Given the description of an element on the screen output the (x, y) to click on. 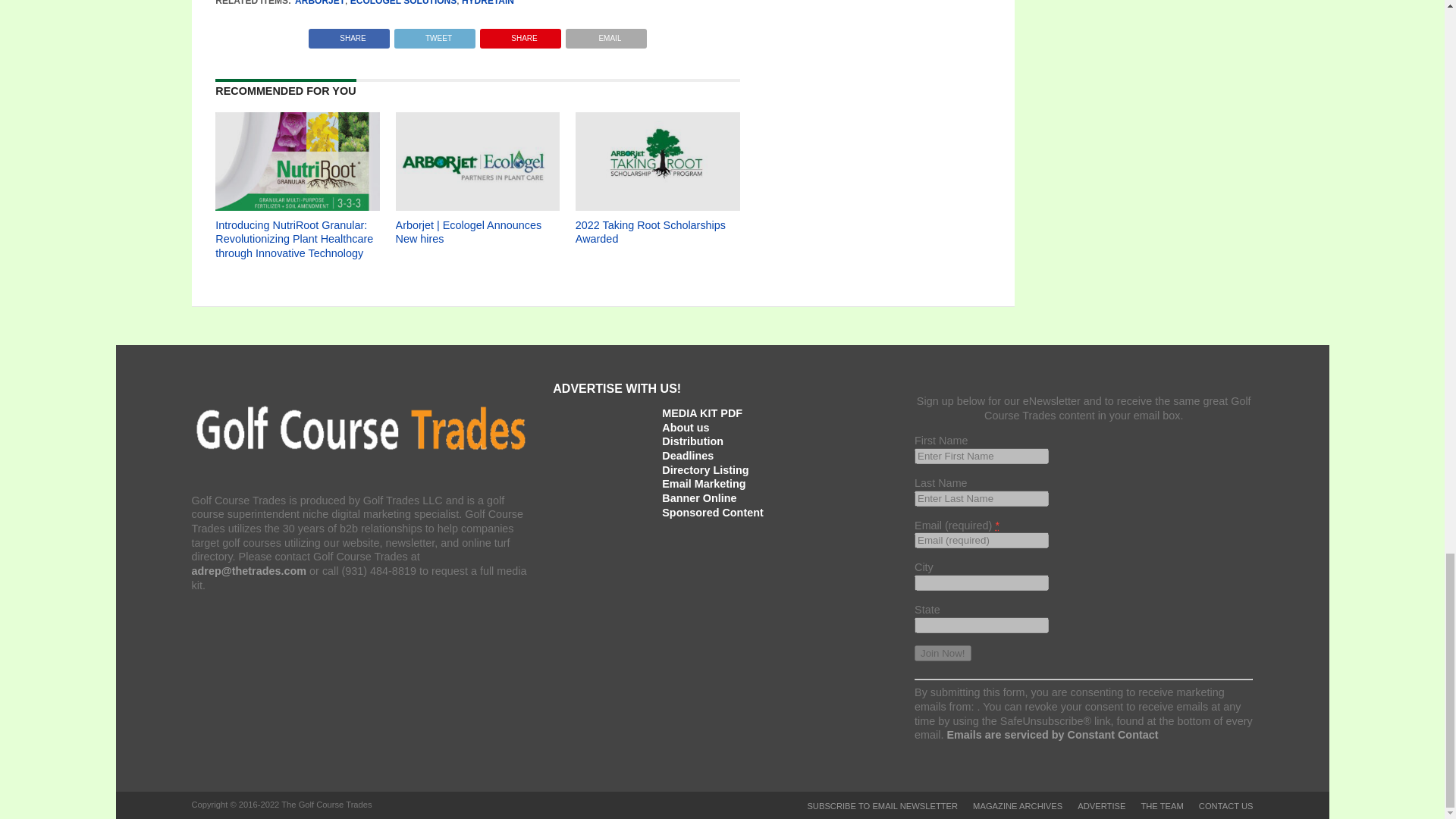
Share on Facebook (349, 33)
Tweet This Post (434, 33)
2022 Taking Root Scholarships Awarded (657, 205)
Join Now! (942, 652)
Pin This Post (520, 33)
